Given the description of an element on the screen output the (x, y) to click on. 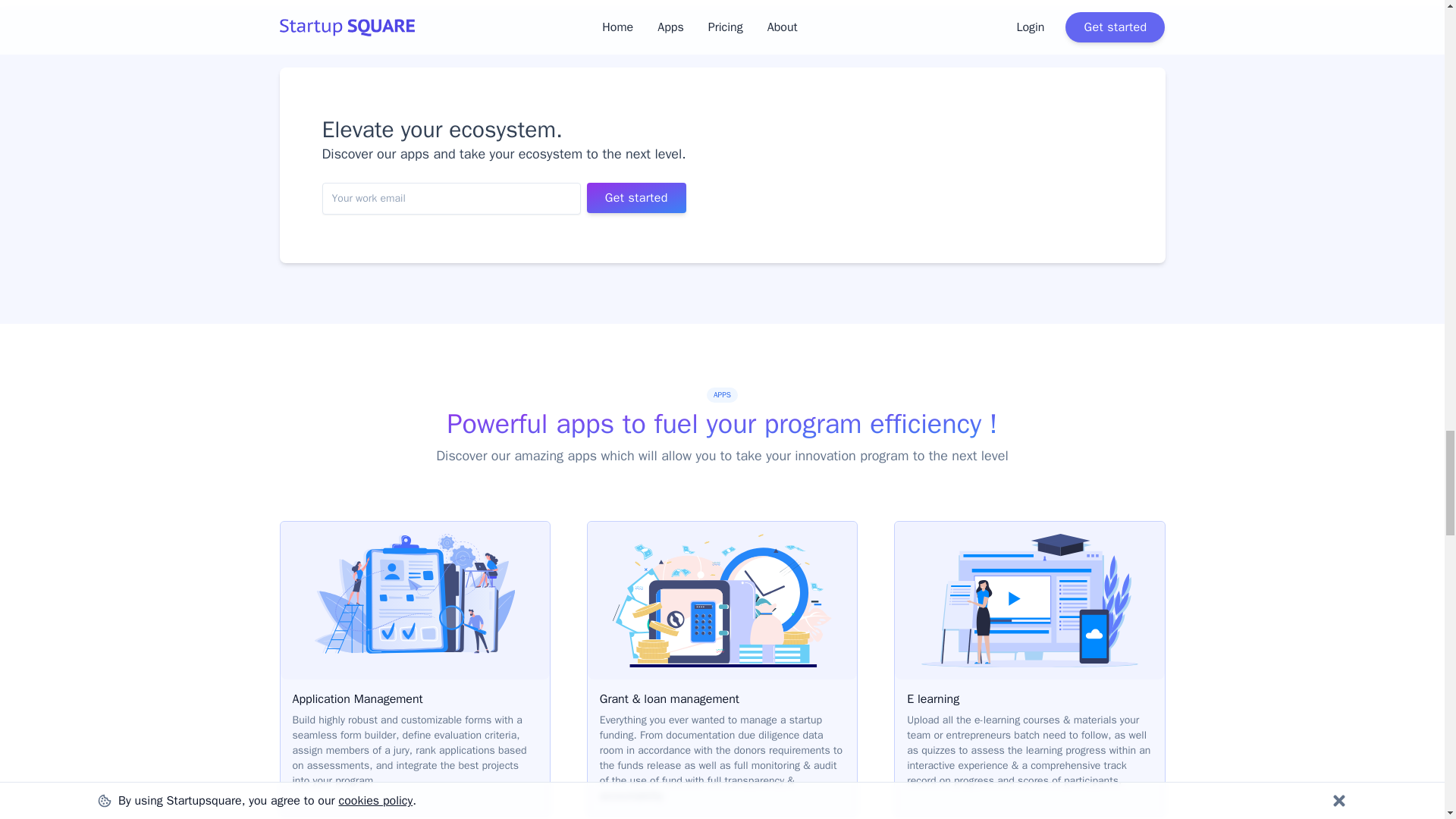
Get started (635, 197)
